Given the description of an element on the screen output the (x, y) to click on. 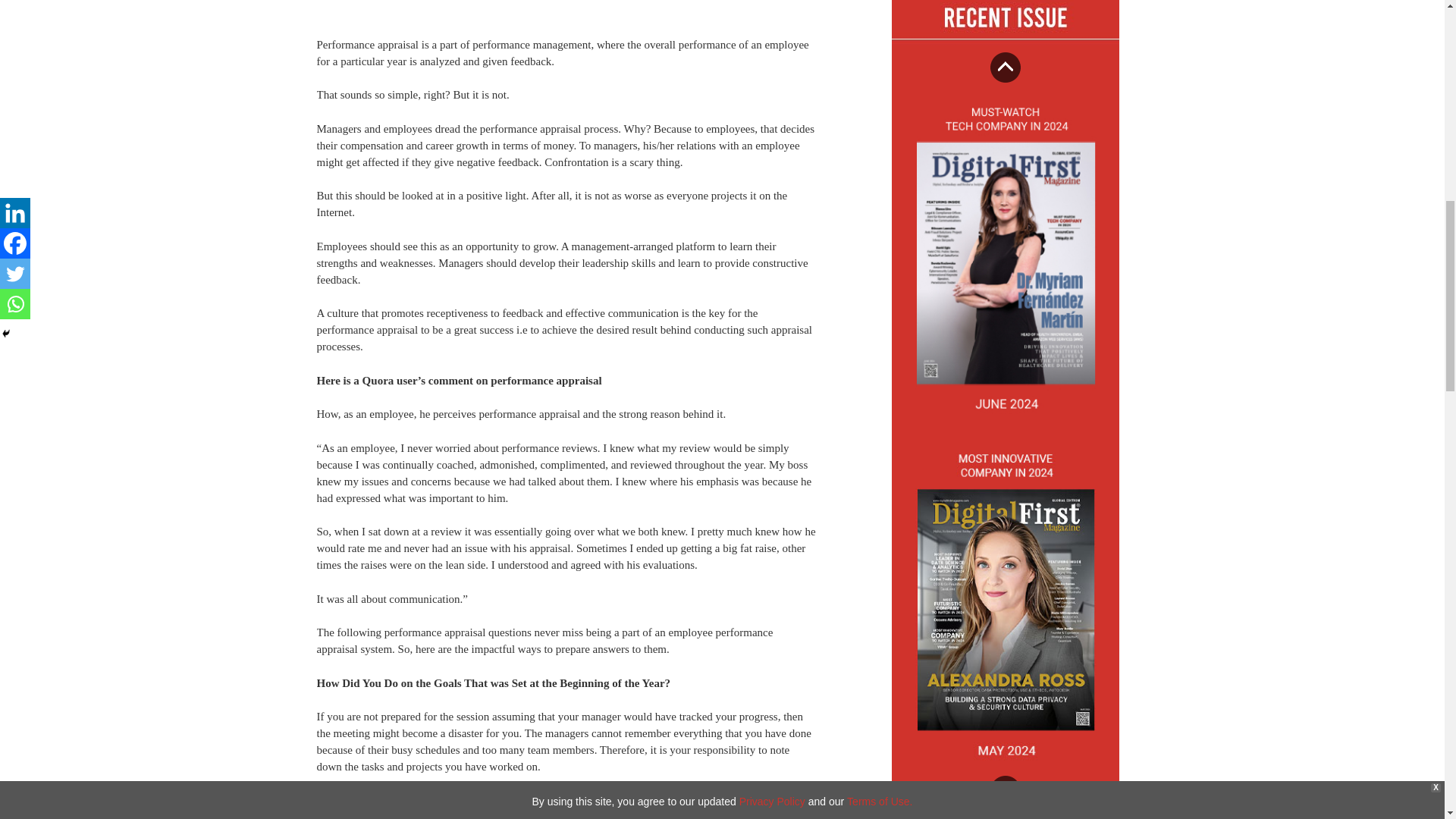
MUST-WATCH TECH COMPANY IN 2024 (1007, 255)
MOST INNOVATIVE COMPANY IN 2024 (1007, 601)
